Given the description of an element on the screen output the (x, y) to click on. 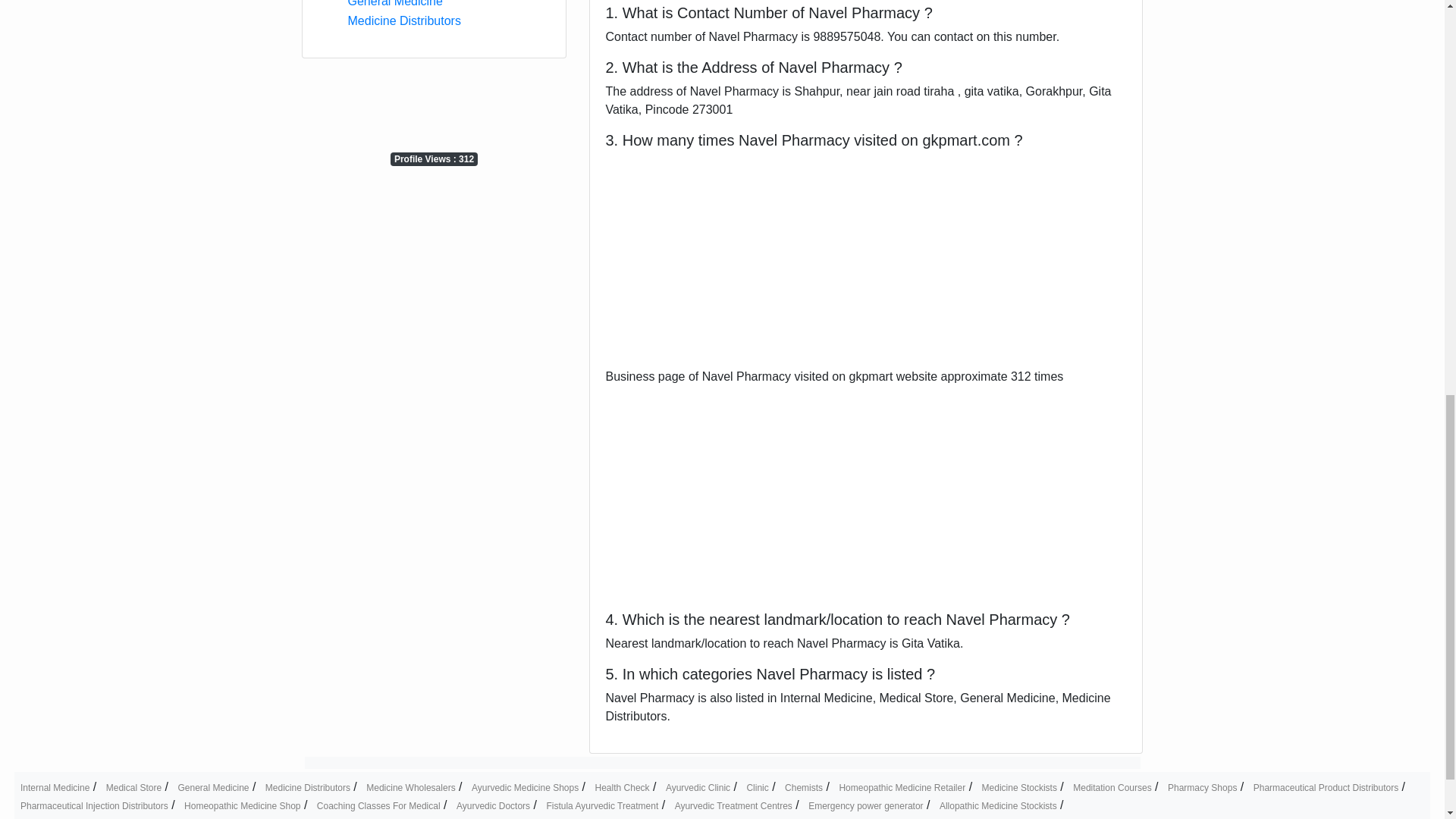
Pharmacy Shops (1201, 787)
Chemists (803, 787)
General Medicine (212, 787)
Ayurvedic Doctors (493, 805)
General Medicine (394, 3)
Medicine Distributors (307, 787)
Clinic (756, 787)
Coaching Classes For Medical (379, 805)
Emergency power generator (865, 805)
Advertisement (865, 261)
Homeopathic Medicine Retailer (901, 787)
Pharmaceutical Injection Distributors (94, 805)
Internal Medicine (54, 787)
Allopathic Medicine Stockists (998, 805)
Advertisement (434, 103)
